Given the description of an element on the screen output the (x, y) to click on. 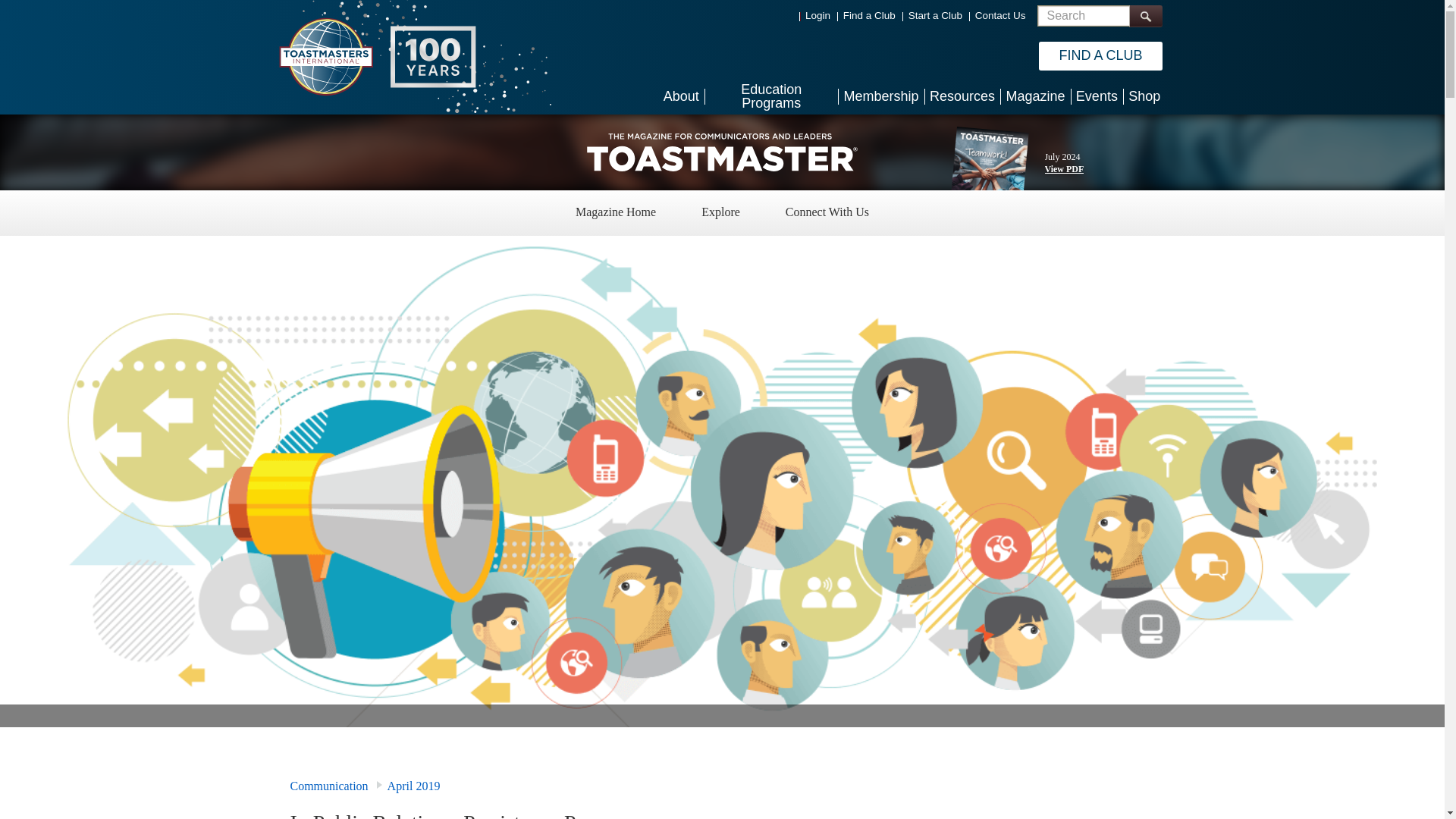
Membership (880, 95)
Events (1096, 95)
Search (1144, 15)
View PDF (1063, 168)
toastmasters (722, 151)
Contact Us (1000, 15)
Find a Club (869, 15)
Communication (328, 785)
Login (817, 15)
Connect With Us (827, 213)
Start a Club (935, 15)
FIND A CLUB (1100, 55)
Resources (962, 95)
Education Programs (771, 95)
April 2019 (414, 785)
